Given the description of an element on the screen output the (x, y) to click on. 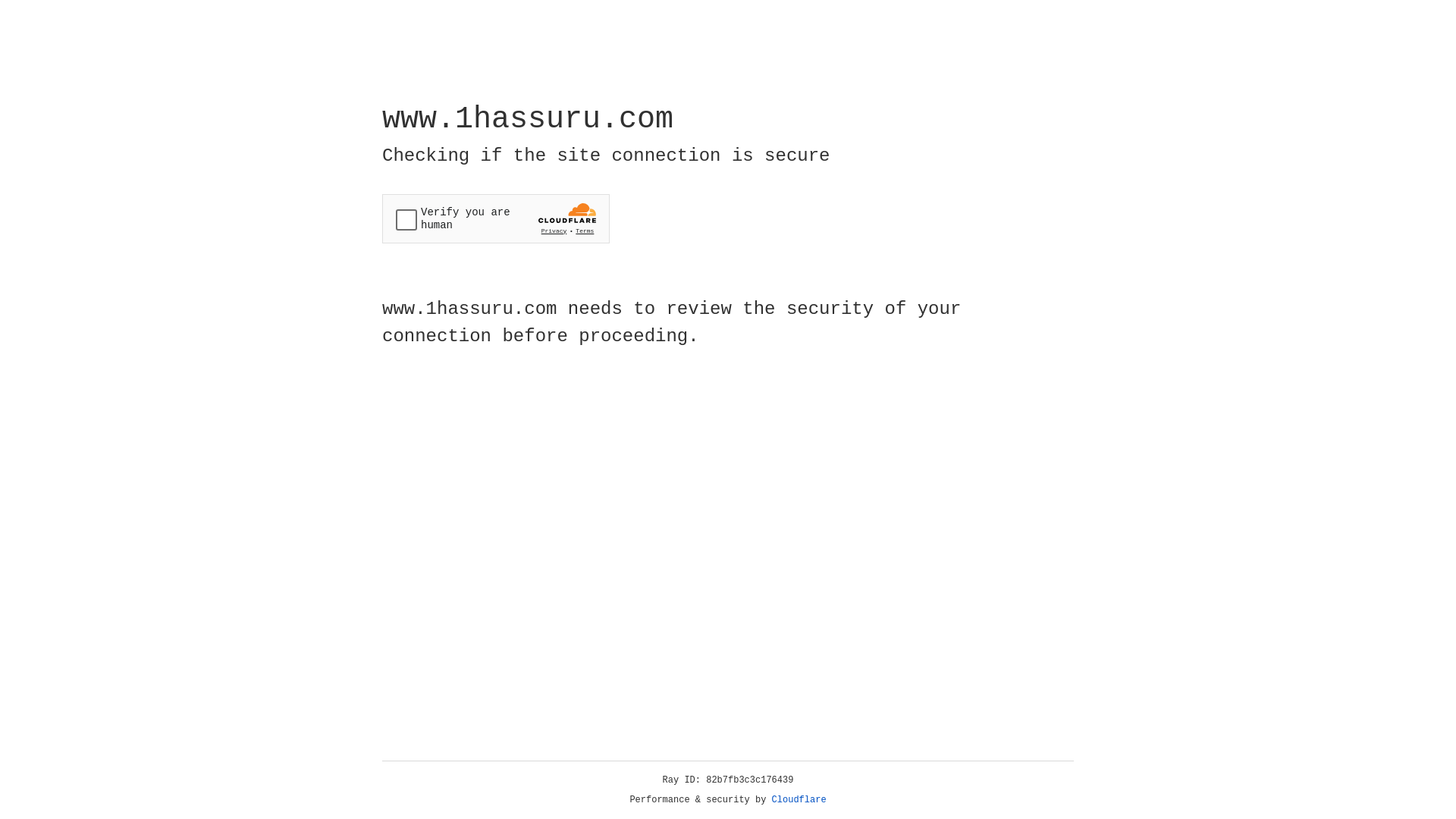
Widget containing a Cloudflare security challenge Element type: hover (495, 218)
Cloudflare Element type: text (798, 799)
